Given the description of an element on the screen output the (x, y) to click on. 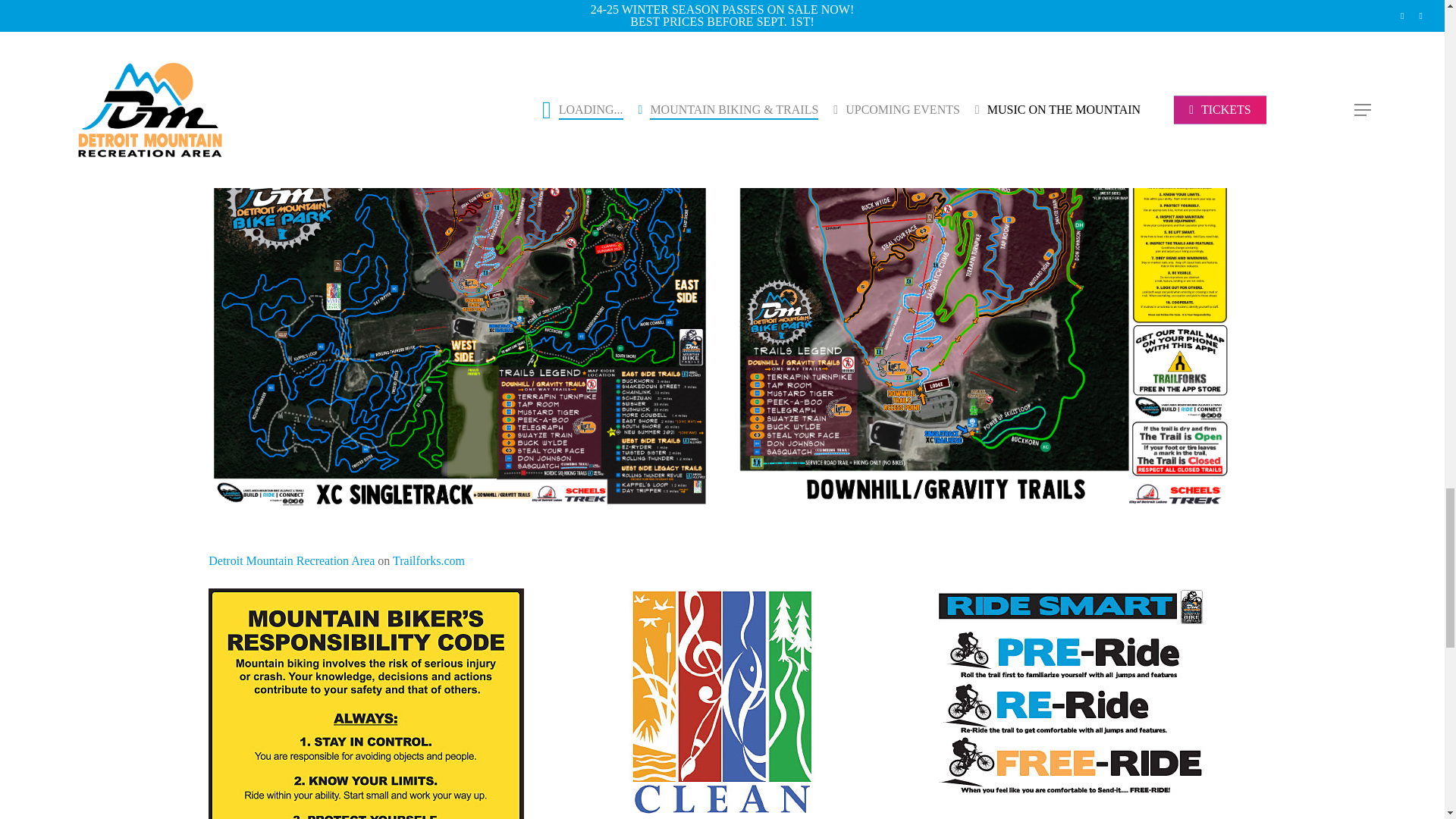
Detroit Mountain Recreation Area (291, 560)
NSAA Mountain Biker's Responsibility Code (1071, 814)
Trailforks.com (428, 560)
